Given the description of an element on the screen output the (x, y) to click on. 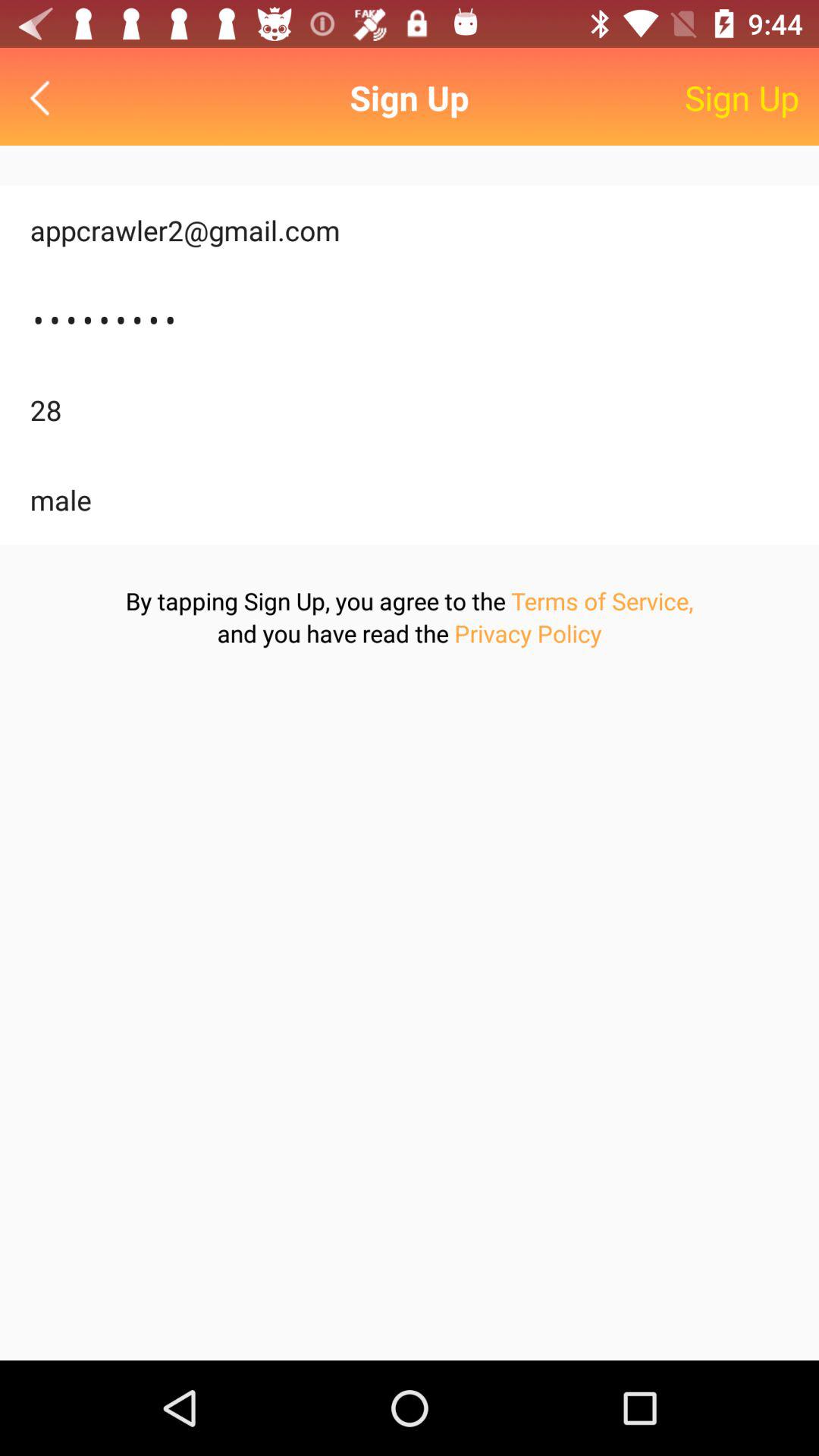
scroll until appcrawler2@gmail.com item (409, 230)
